Given the description of an element on the screen output the (x, y) to click on. 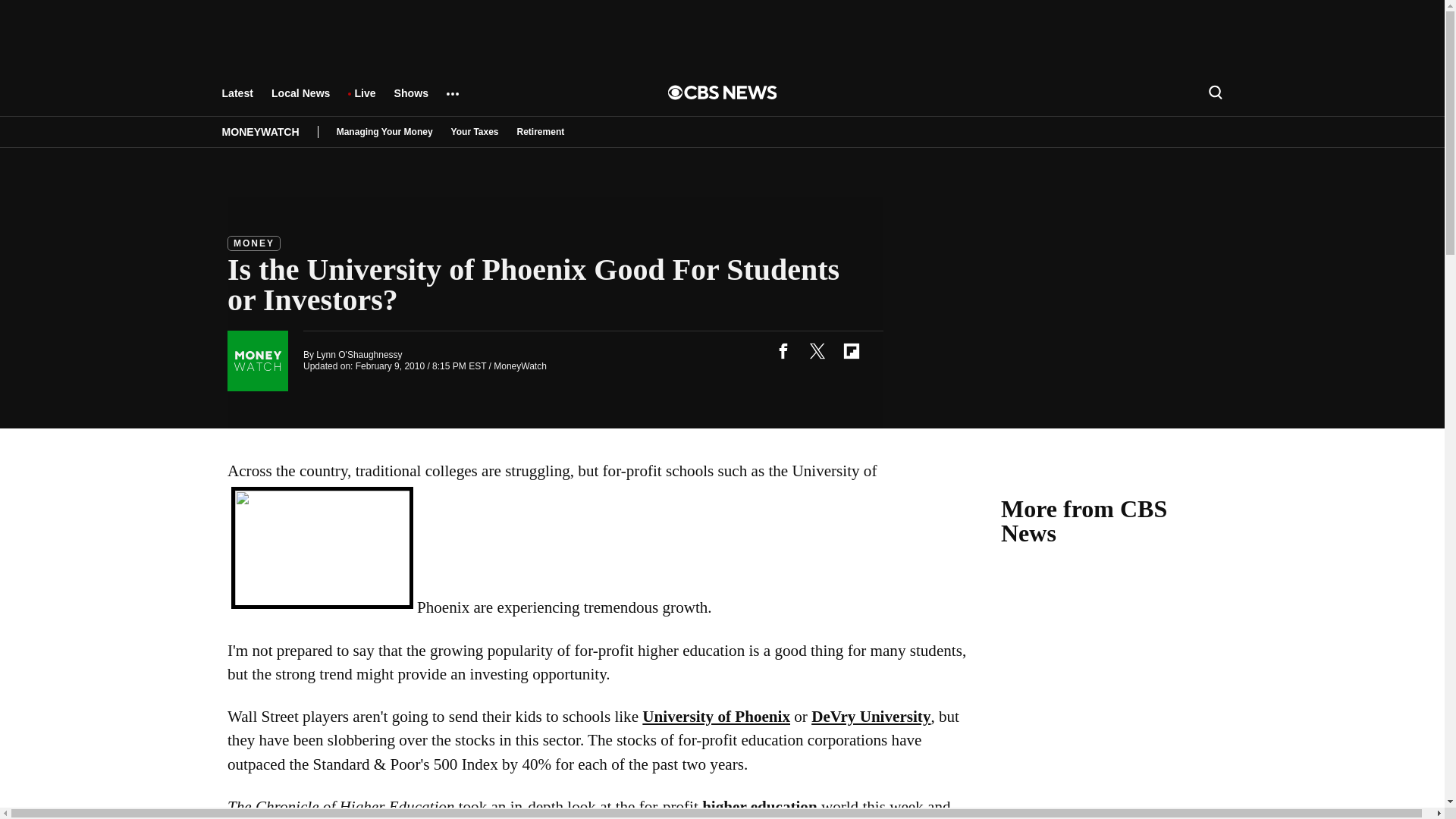
flipboard (850, 350)
Is Phoenix University a Stock Play? (322, 547)
facebook (782, 350)
Local News (300, 100)
twitter (816, 350)
Latest (236, 100)
